Given the description of an element on the screen output the (x, y) to click on. 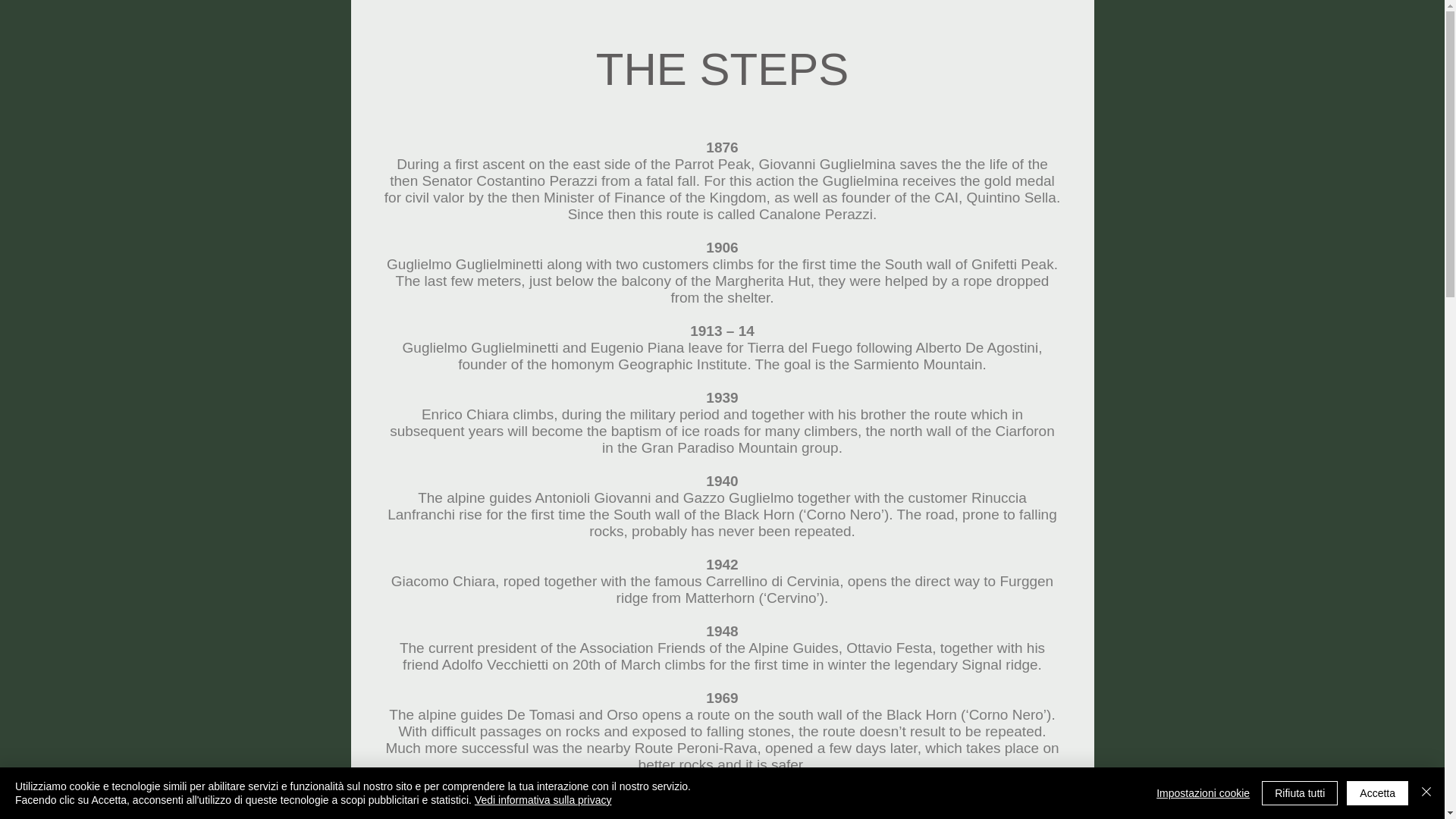
Rifiuta tutti (1300, 793)
Accetta (1376, 793)
Vedi informativa sulla privacy (542, 799)
BACK (722, 787)
